Given the description of an element on the screen output the (x, y) to click on. 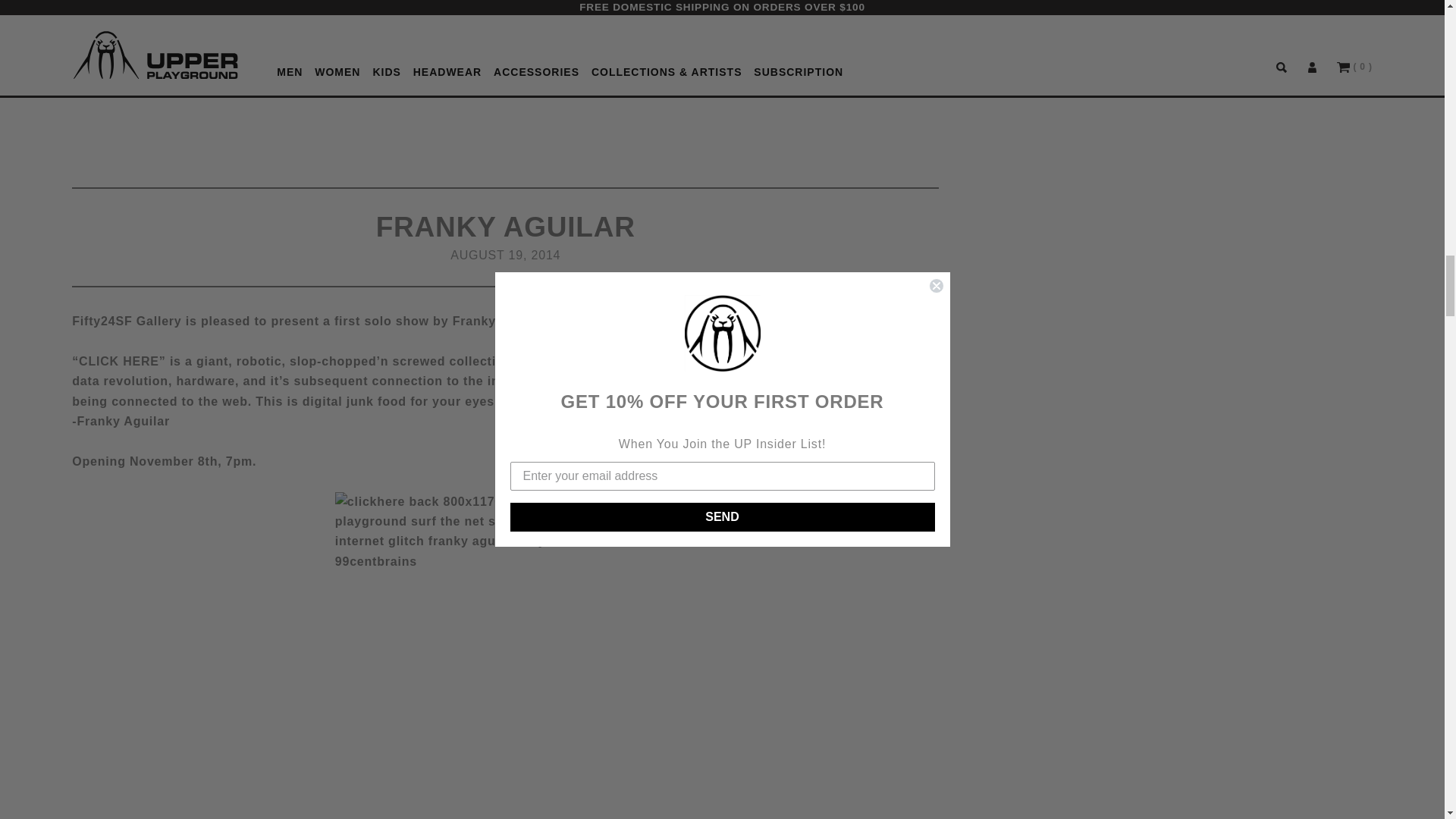
Franky Aguilar (505, 655)
